Given the description of an element on the screen output the (x, y) to click on. 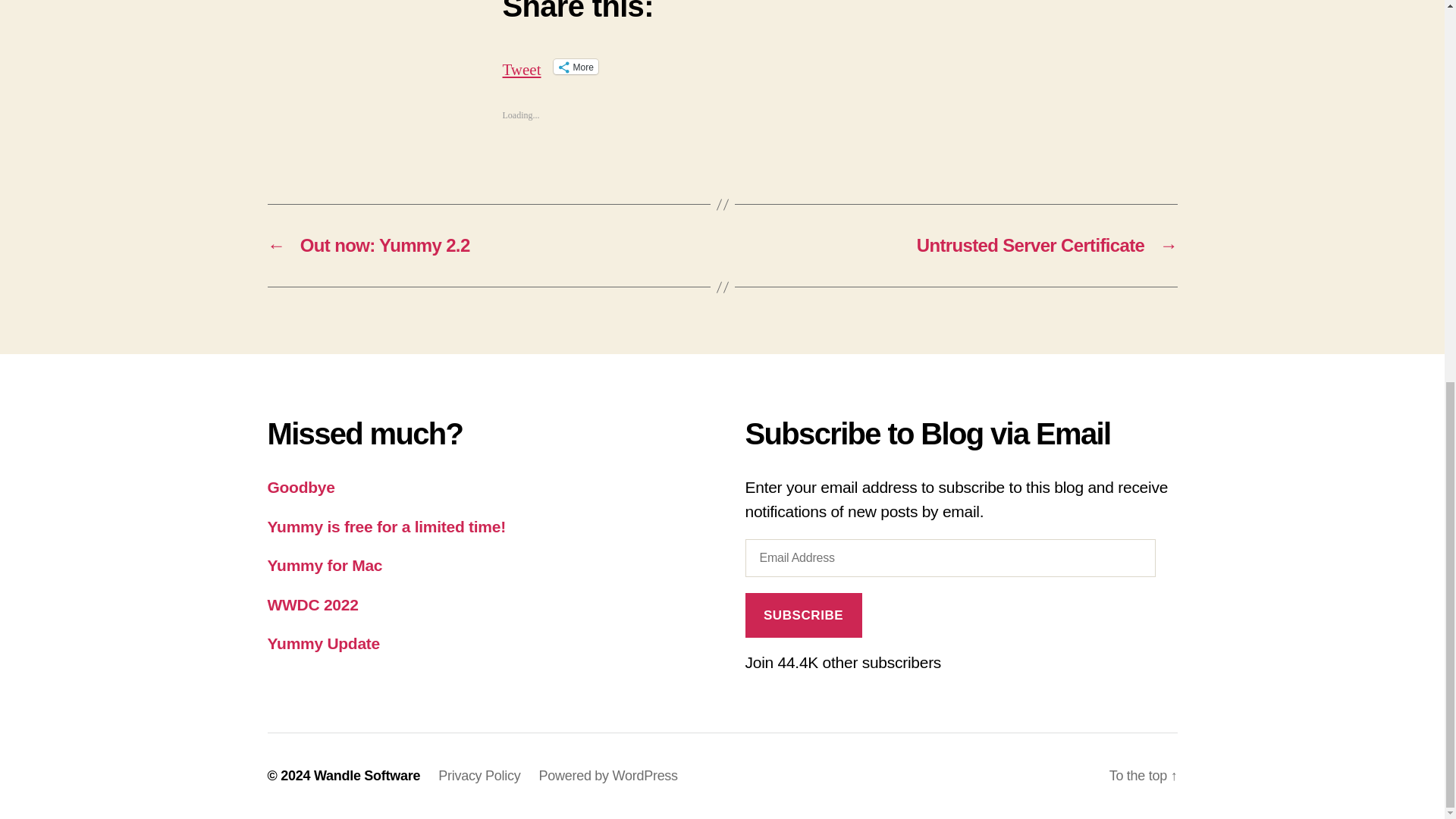
WWDC 2022 (312, 604)
Tweet (521, 65)
More (575, 66)
Goodbye (300, 487)
Yummy Update (322, 642)
Yummy for Mac (323, 565)
SUBSCRIBE (802, 615)
Yummy is free for a limited time! (385, 526)
